Given the description of an element on the screen output the (x, y) to click on. 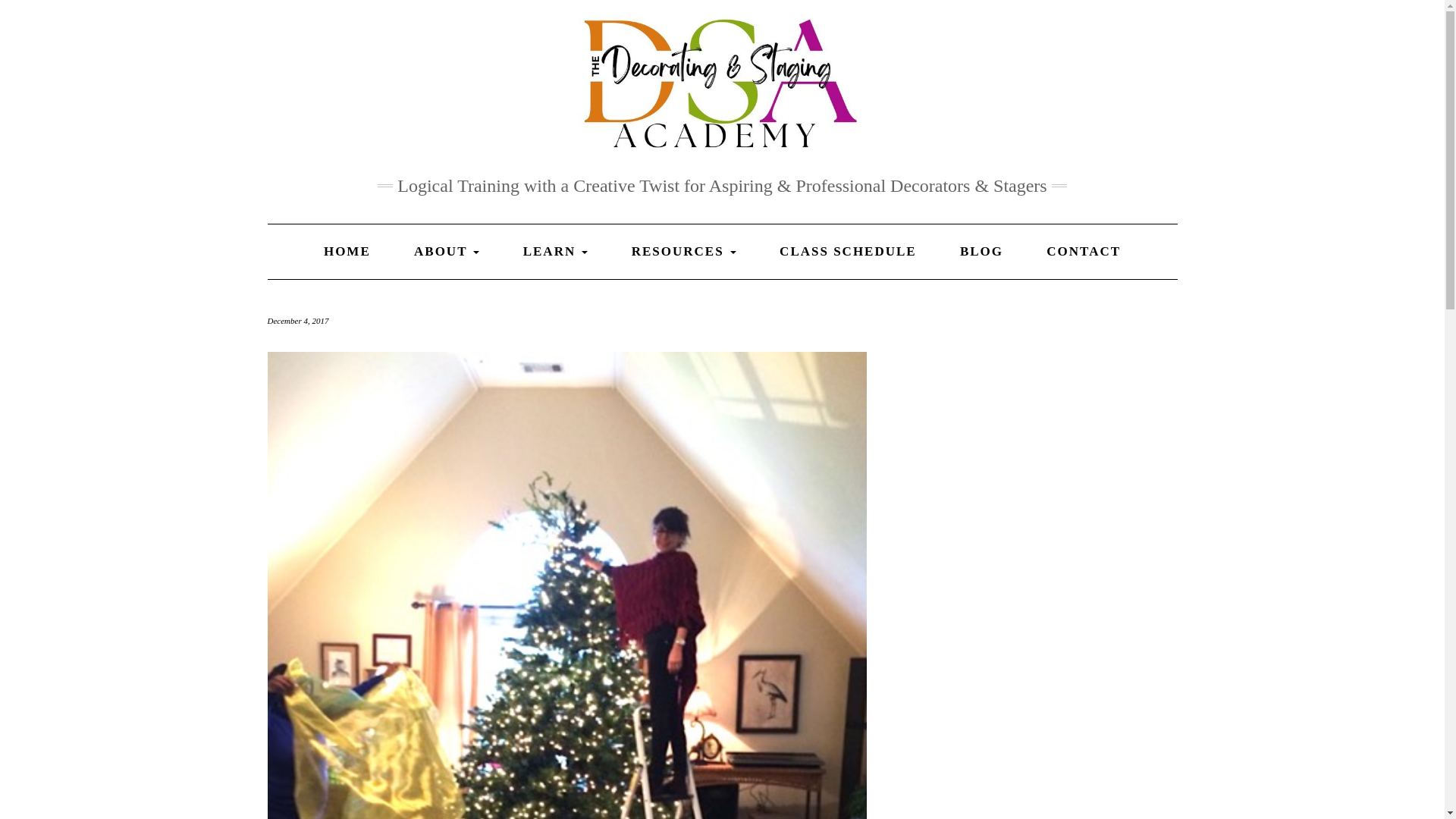
ABOUT (446, 251)
RESOURCES (684, 251)
BLOG (981, 251)
HOME (346, 251)
CLASS SCHEDULE (847, 251)
LEARN (555, 251)
CONTACT (1083, 251)
